Given the description of an element on the screen output the (x, y) to click on. 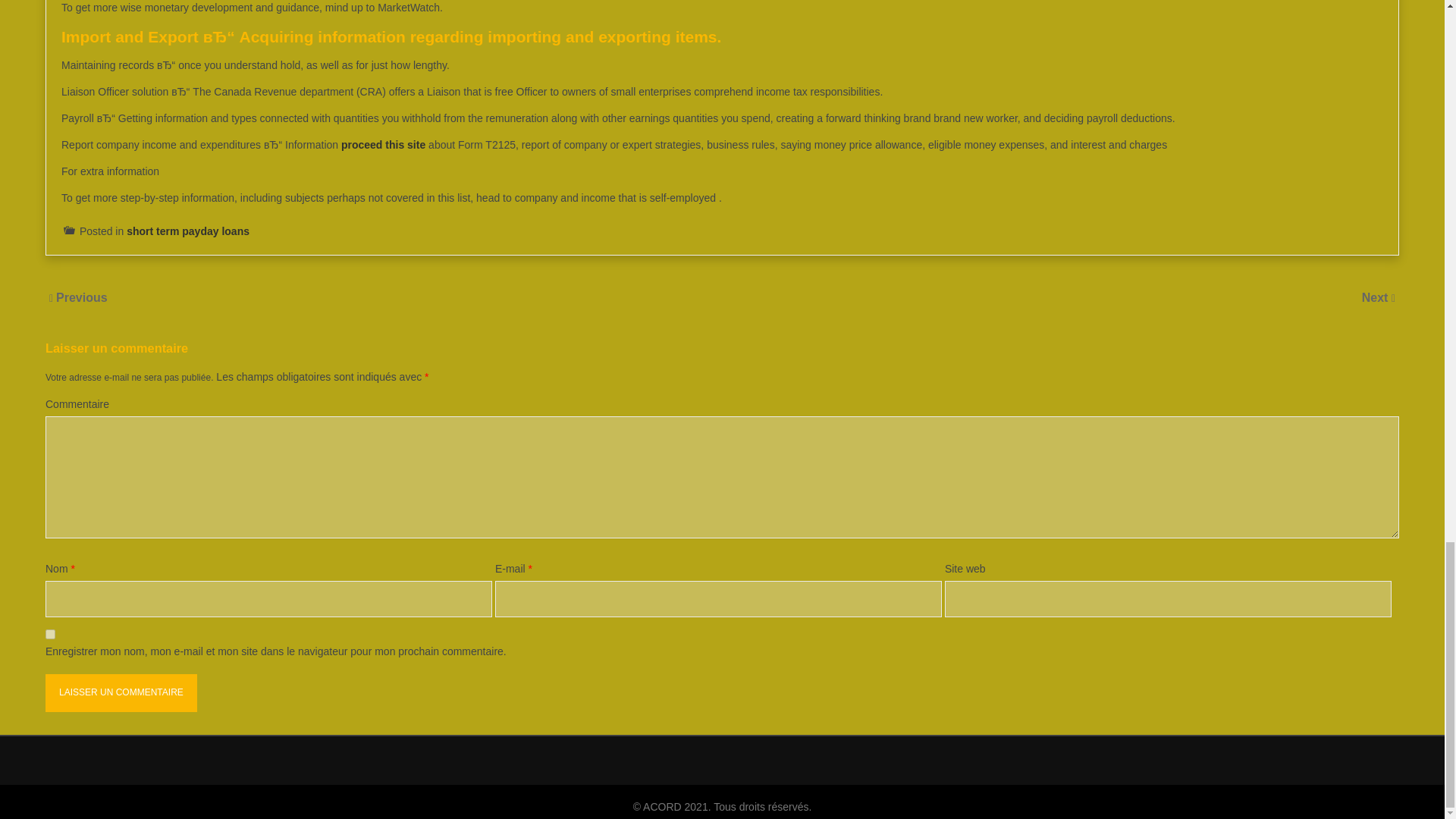
proceed this site (382, 144)
yes (50, 634)
Laisser un commentaire (120, 692)
Previous (81, 297)
Next (1376, 297)
short term payday loans (187, 231)
Laisser un commentaire (120, 692)
